Given the description of an element on the screen output the (x, y) to click on. 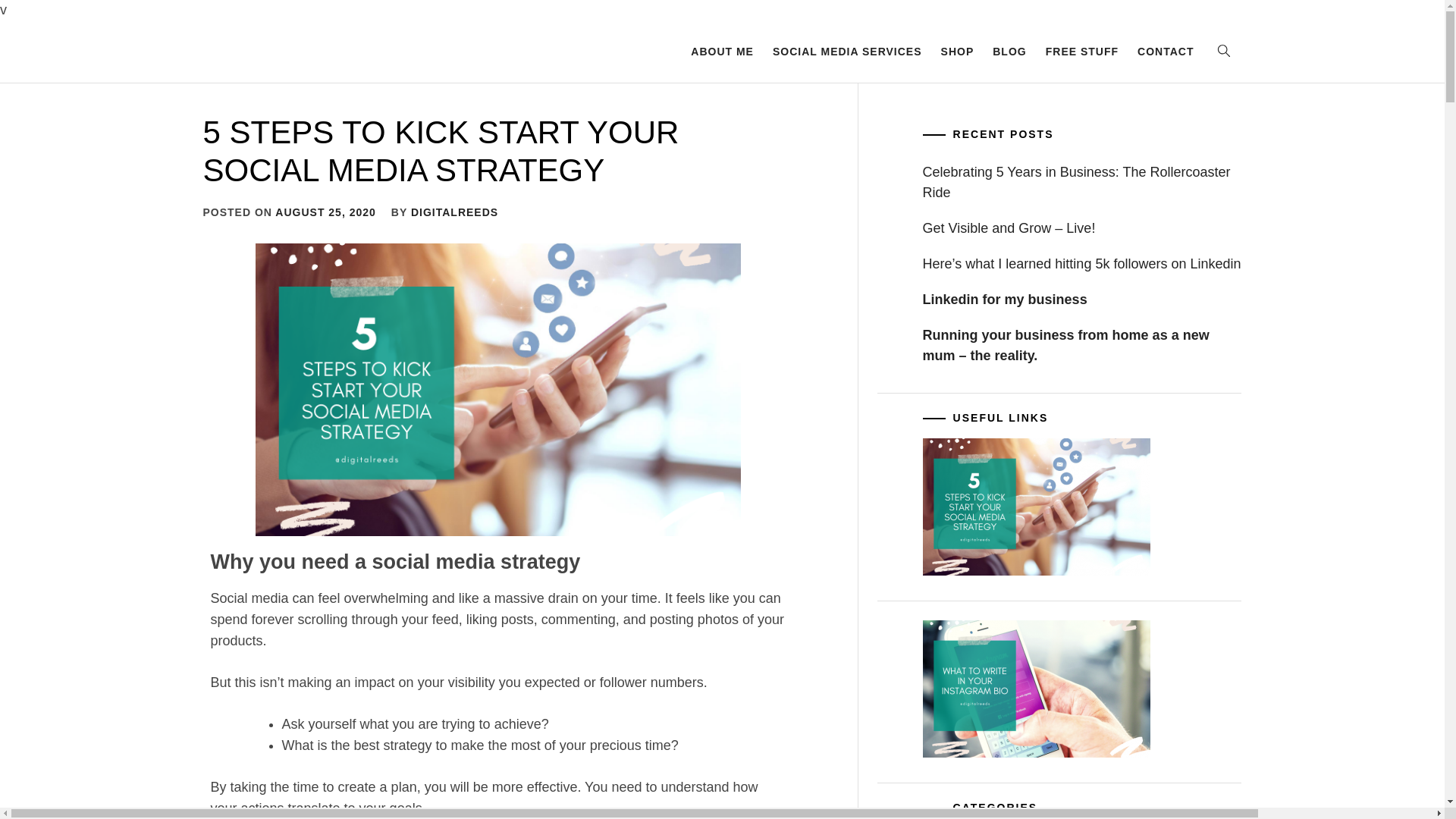
ABOUT ME (721, 51)
SOCIAL MEDIA SERVICES (847, 51)
BLOG (1009, 51)
CONTACT (1165, 51)
SHOP (957, 51)
Search (797, 402)
FREE STUFF (1081, 51)
AUGUST 25, 2020 (325, 212)
DIGITALREEDS (453, 212)
